Given the description of an element on the screen output the (x, y) to click on. 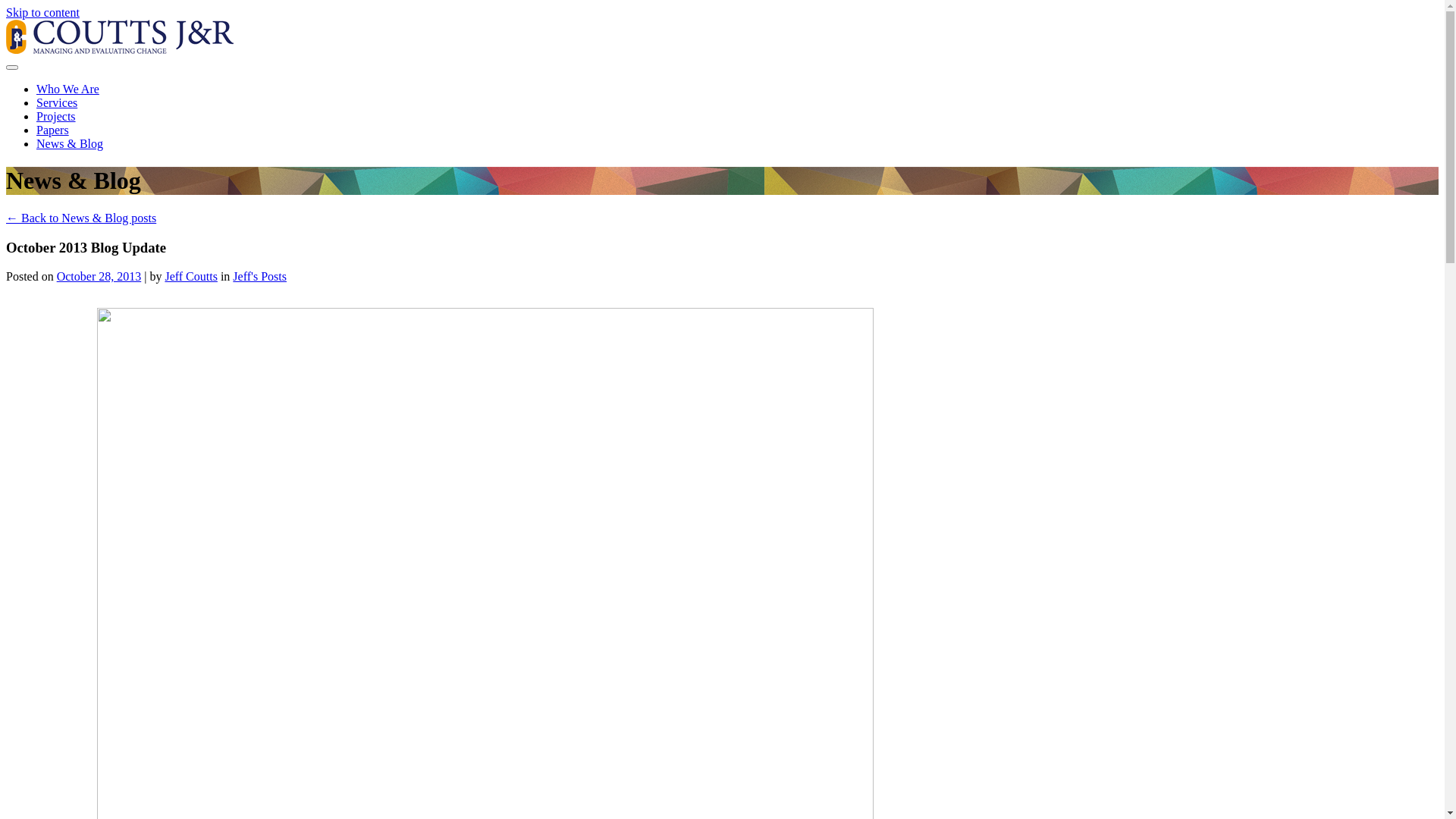
Skip to content Element type: text (42, 12)
October 28, 2013 Element type: text (98, 275)
Jeff's Posts Element type: text (259, 275)
Papers Element type: text (52, 129)
News & Blog Element type: text (69, 143)
Jeff Coutts Element type: text (190, 275)
Who We Are Element type: text (67, 88)
Projects Element type: text (55, 115)
Services Element type: text (56, 102)
